Given the description of an element on the screen output the (x, y) to click on. 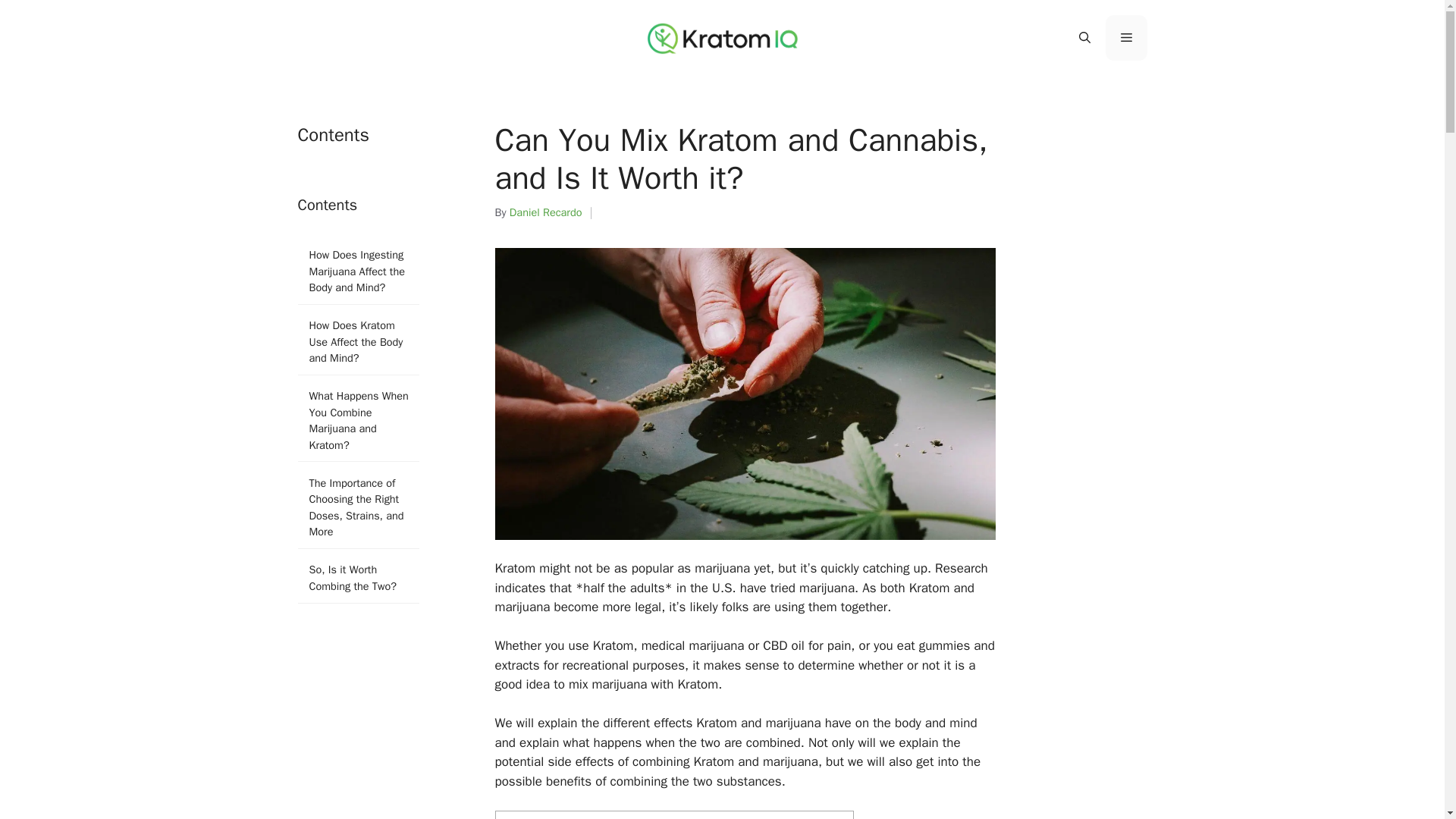
How Does Kratom Use Affect the Body and Mind? (358, 342)
Daniel Recardo (545, 212)
How Does Ingesting Marijuana Affect the Body and Mind? (358, 271)
Menu (1126, 37)
